Given the description of an element on the screen output the (x, y) to click on. 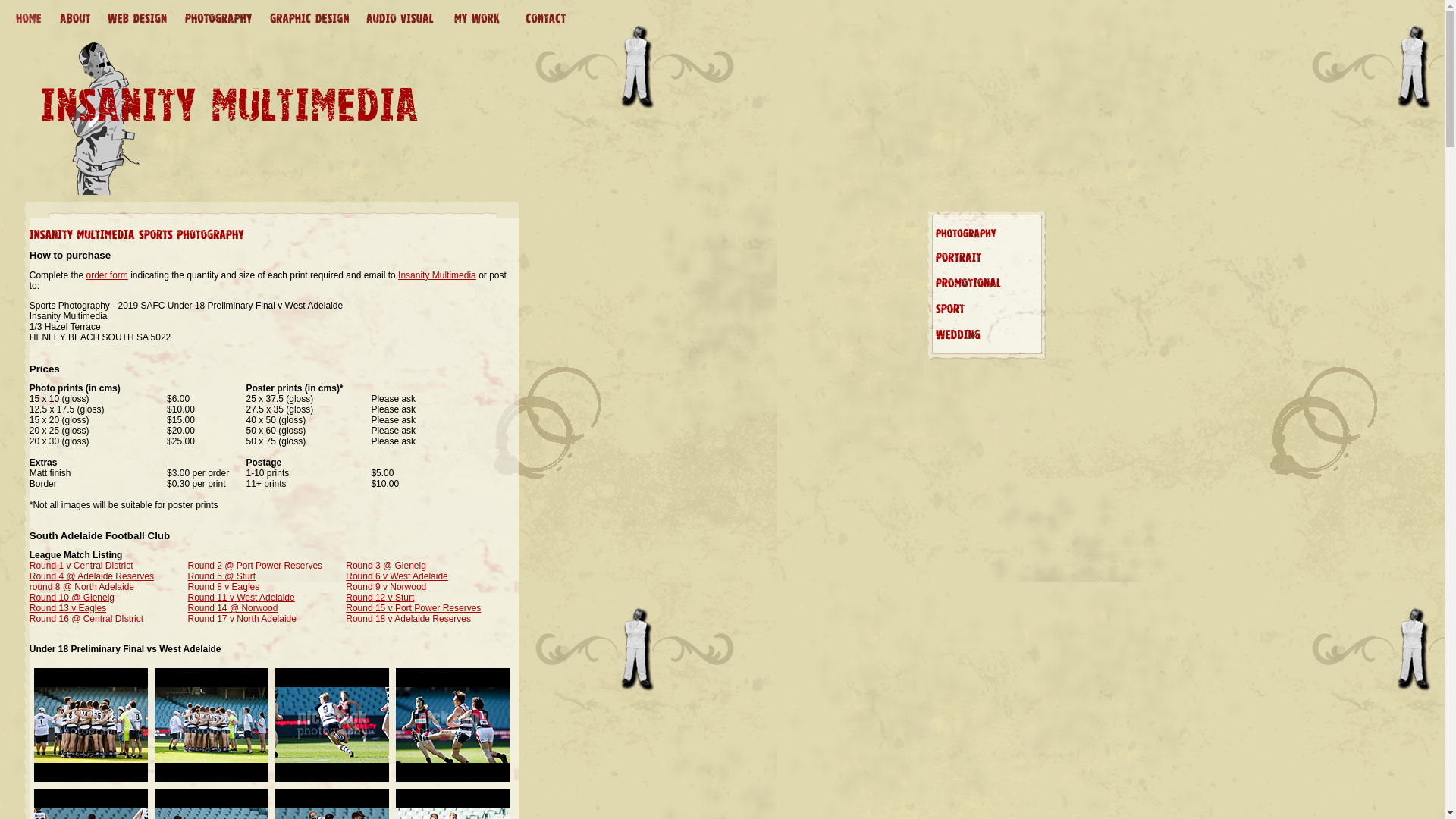
Round 4 @ Adelaide Reserves Element type: text (91, 576)
prelim-02.jpg by Insanity Multimedia Element type: hover (211, 778)
Round 13 v Eagles Element type: text (67, 607)
Round 14 @ Norwood Element type: text (233, 607)
Round 6 v West Adelaide Element type: text (396, 576)
Round 9 v Norwood Element type: text (385, 586)
Round 18 v Adelaide Reserves Element type: text (407, 618)
round 8 @ North Adelaide Element type: text (81, 586)
Round 10 @ Glenelg Element type: text (71, 597)
Round 15 v Port Power Reserves Element type: text (412, 607)
Round 11 v West Adelaide Element type: text (241, 597)
Round 2 @ Port Power Reserves Element type: text (255, 565)
Round 5 @ Sturt Element type: text (222, 576)
prelim-03.jpg by Insanity Multimedia Element type: hover (332, 778)
prelim-01.jpg by Insanity Multimedia Element type: hover (90, 778)
Round 3 @ Glenelg Element type: text (385, 565)
Round 12 v Sturt Element type: text (379, 597)
Round 1 v Central District Element type: text (81, 565)
prelim-04.jpg by Insanity Multimedia Element type: hover (452, 778)
Insanity Multimedia Element type: text (437, 274)
Round 17 v North Adelaide Element type: text (242, 618)
order form Element type: text (106, 274)
Round 16 @ Central DIstrict Element type: text (86, 618)
Round 8 v Eagles Element type: text (224, 586)
